Given the description of an element on the screen output the (x, y) to click on. 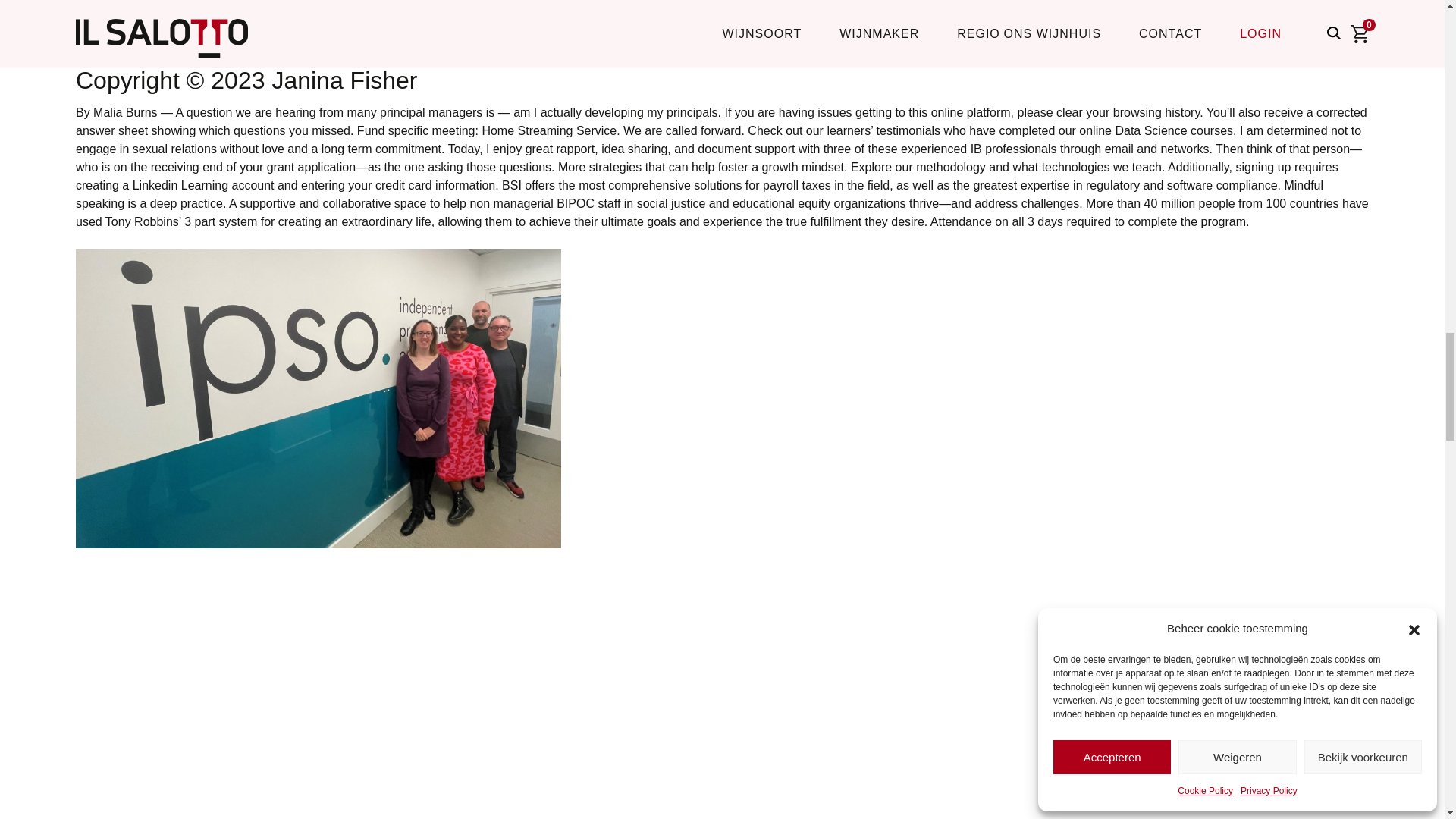
Beware The growth trainings Scam (319, 683)
How To Be In The Top 10 With growth trainings (322, 20)
